Given the description of an element on the screen output the (x, y) to click on. 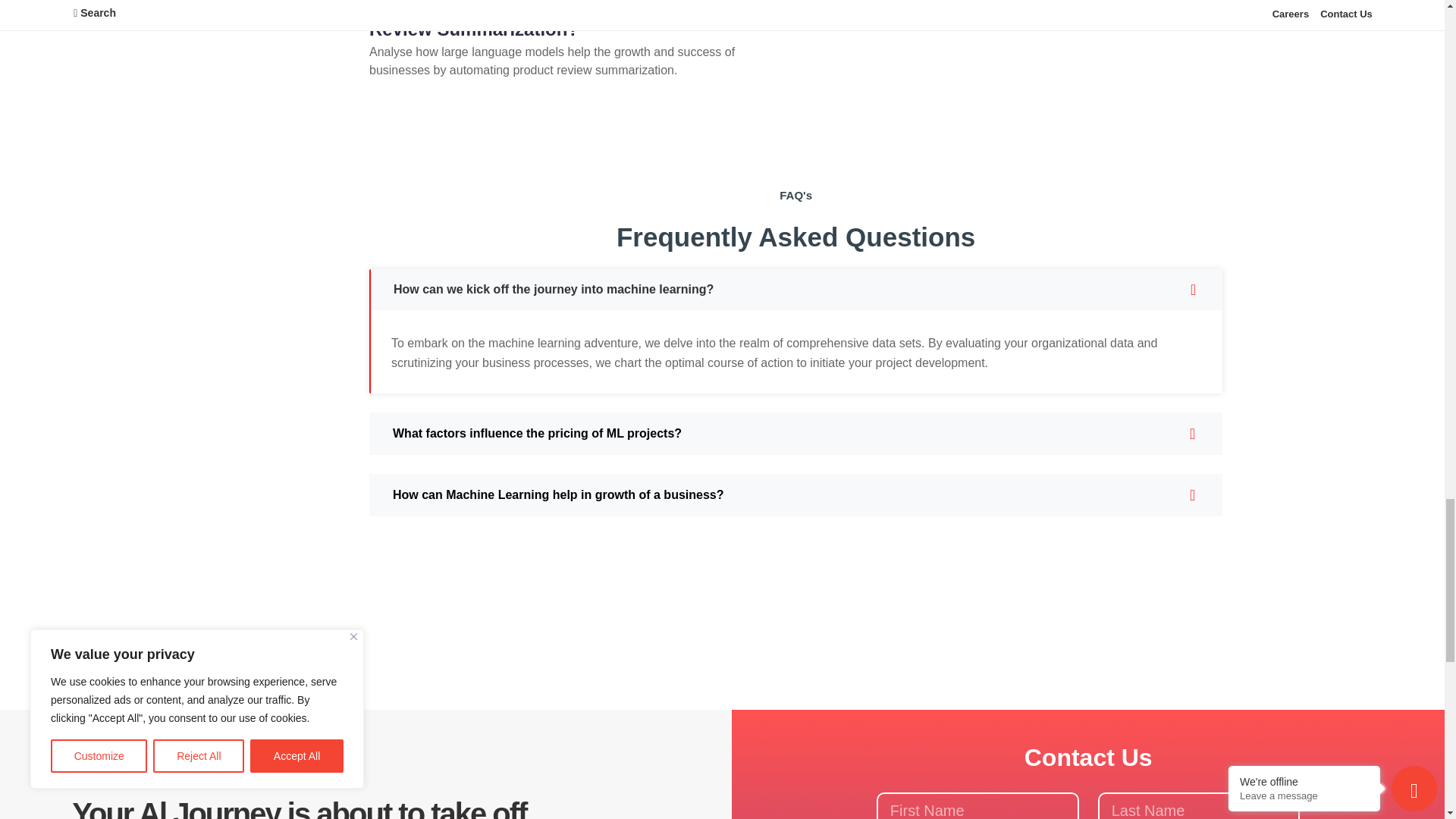
How Do LLMs Help In Automating Product Review Summarization? (552, 19)
